Given the description of an element on the screen output the (x, y) to click on. 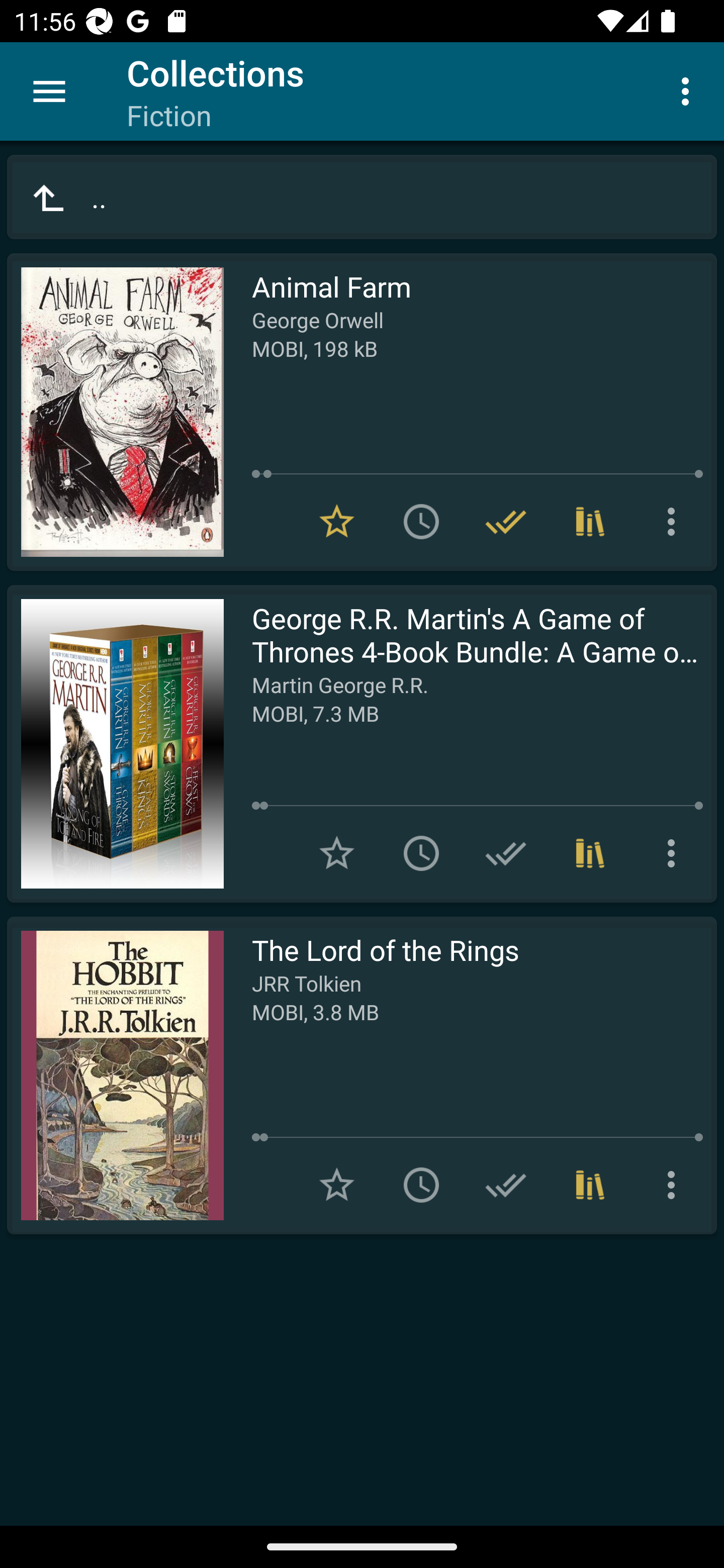
Menu (49, 91)
More options (688, 90)
.. (361, 197)
Read Animal Farm (115, 412)
Remove from Favorites (336, 521)
Add to To read (421, 521)
Remove from Have read (505, 521)
Collections (1) (590, 521)
More options (674, 521)
Add to Favorites (336, 852)
Add to To read (421, 852)
Add to Have read (505, 852)
Collections (1) (590, 852)
More options (674, 852)
Read The Lord of the Rings (115, 1075)
Add to Favorites (336, 1185)
Add to To read (421, 1185)
Add to Have read (505, 1185)
Collections (1) (590, 1185)
More options (674, 1185)
